Given the description of an element on the screen output the (x, y) to click on. 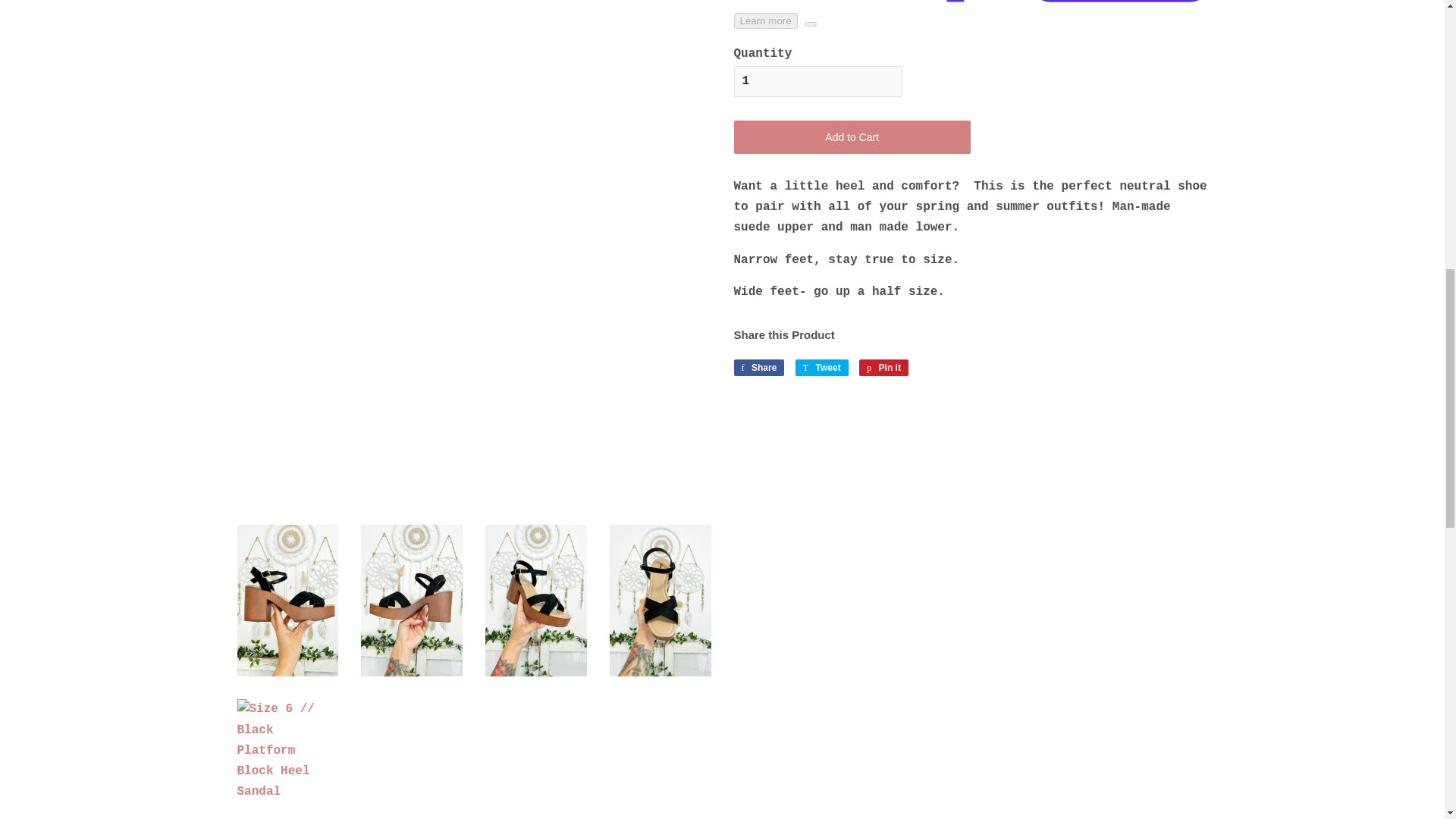
Share on Facebook (758, 367)
1 (817, 81)
Tweet on Twitter (821, 367)
Pin on Pinterest (883, 367)
